Given the description of an element on the screen output the (x, y) to click on. 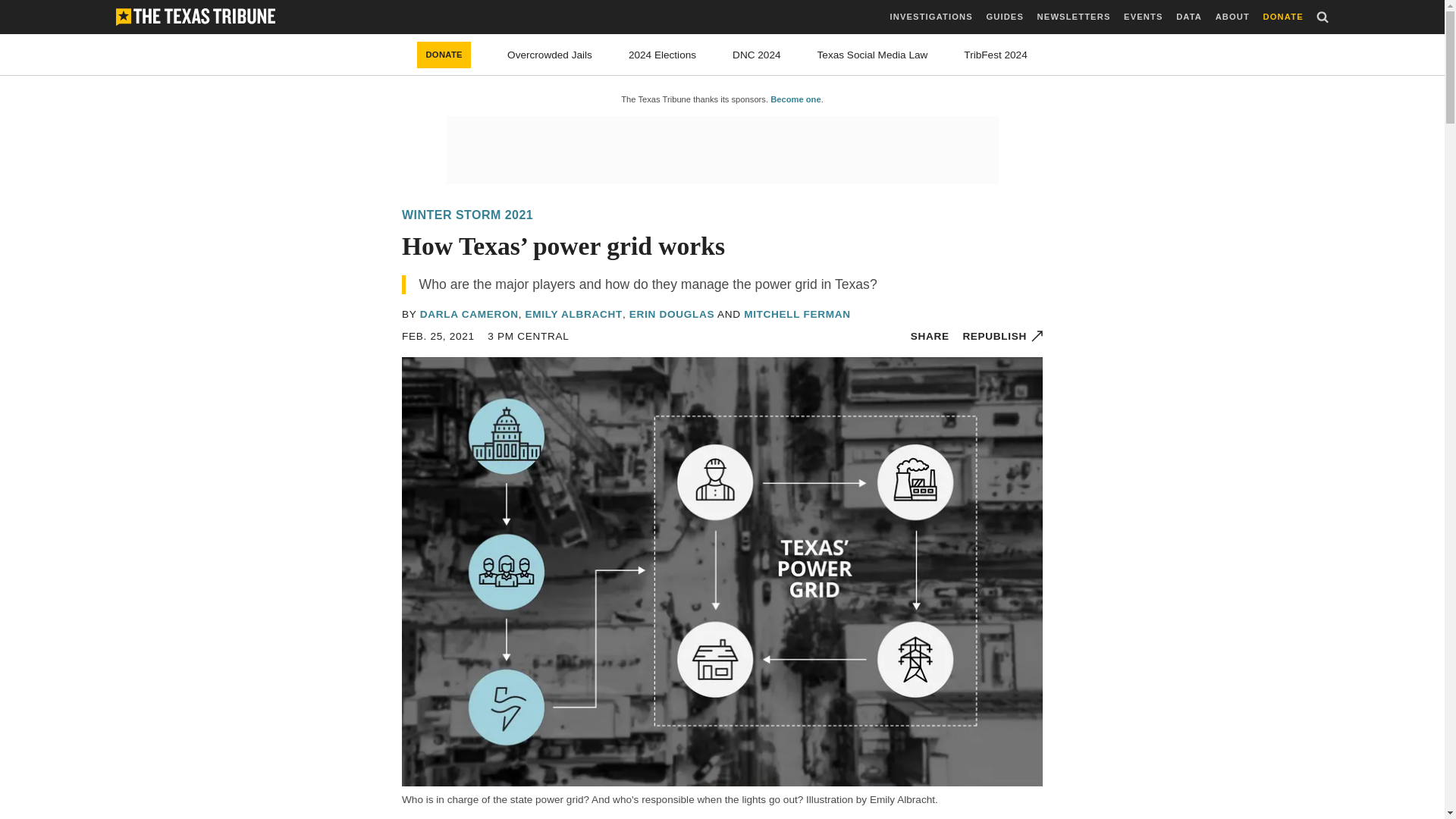
2021-02-25 15:49 CST (528, 336)
WINTER STORM 2021 (466, 214)
Texas Social Media Law (872, 54)
2024 Elections (661, 54)
GUIDES (1004, 17)
MITCHELL FERMAN (797, 314)
DONATE (1283, 17)
2021-02-25 15:49 CST (437, 336)
NEWSLETTERS (1073, 17)
Become one (795, 99)
